Given the description of an element on the screen output the (x, y) to click on. 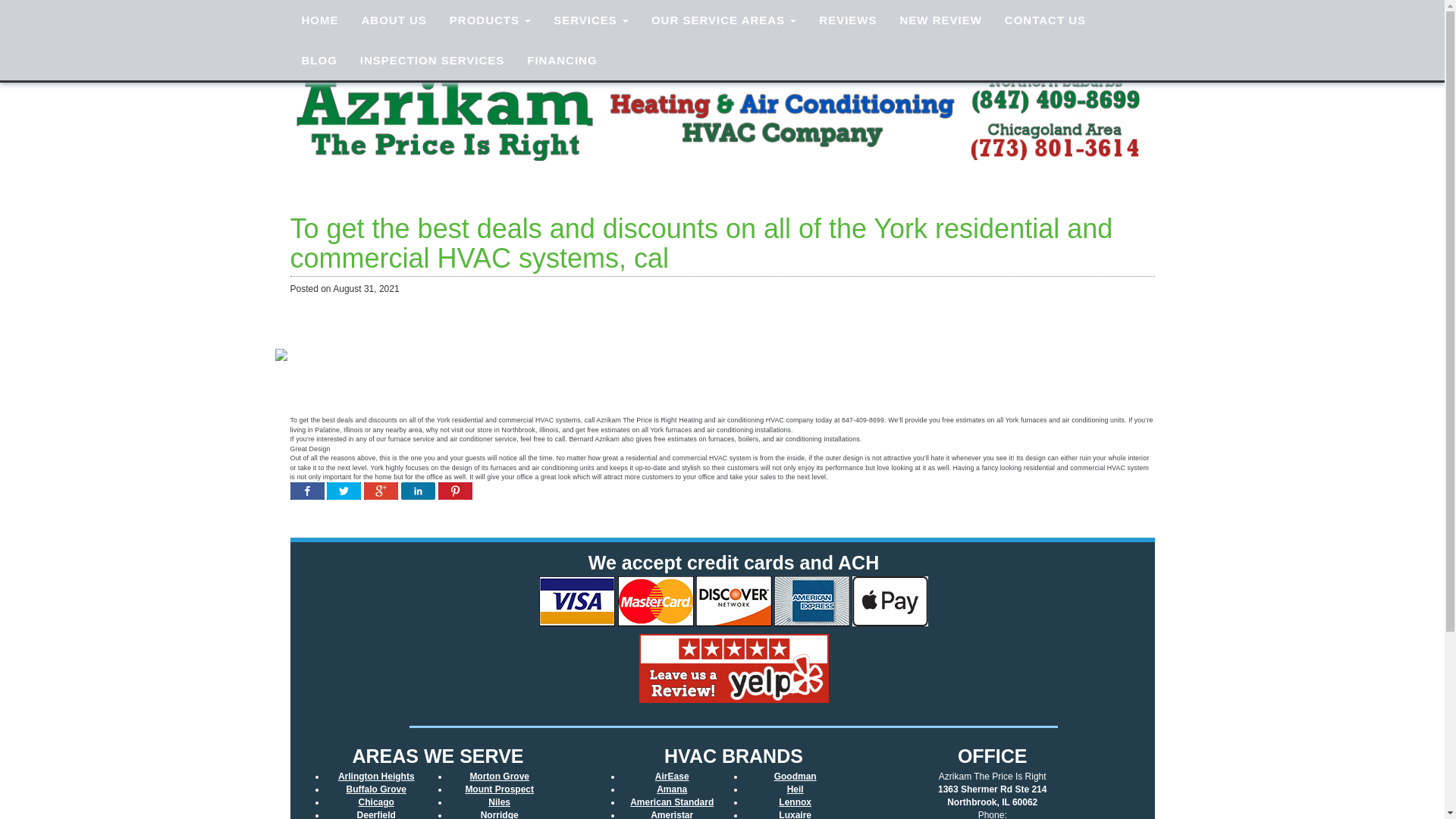
SERVICES (590, 20)
OUR SERVICE AREAS (724, 20)
Pin it on Pinterest (454, 493)
Share on LinkedIn (418, 493)
HOME (319, 20)
Share on Twitter (343, 493)
INSPECTION SERVICES (432, 60)
ABOUT US (394, 20)
CONTACT US (1044, 20)
FINANCING (561, 60)
Share on Google Plus (380, 493)
Share on Facebook (306, 493)
BLOG (318, 60)
PRODUCTS (489, 20)
NEW REVIEW (940, 20)
